Given the description of an element on the screen output the (x, y) to click on. 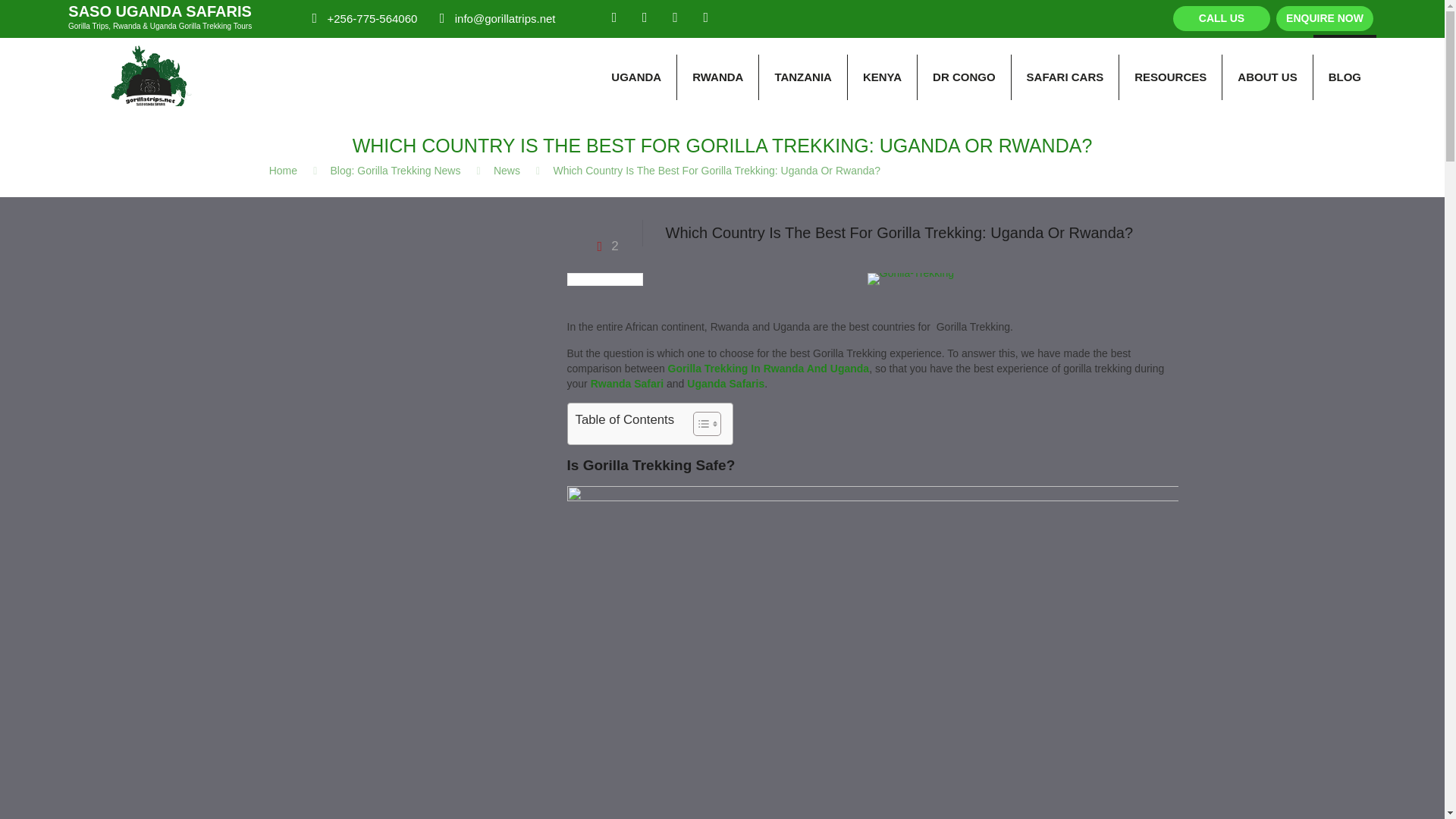
RWANDA (717, 77)
CALL US (1221, 18)
TANZANIA (802, 77)
UGANDA (636, 77)
ENQUIRE NOW (1324, 18)
